Given the description of an element on the screen output the (x, y) to click on. 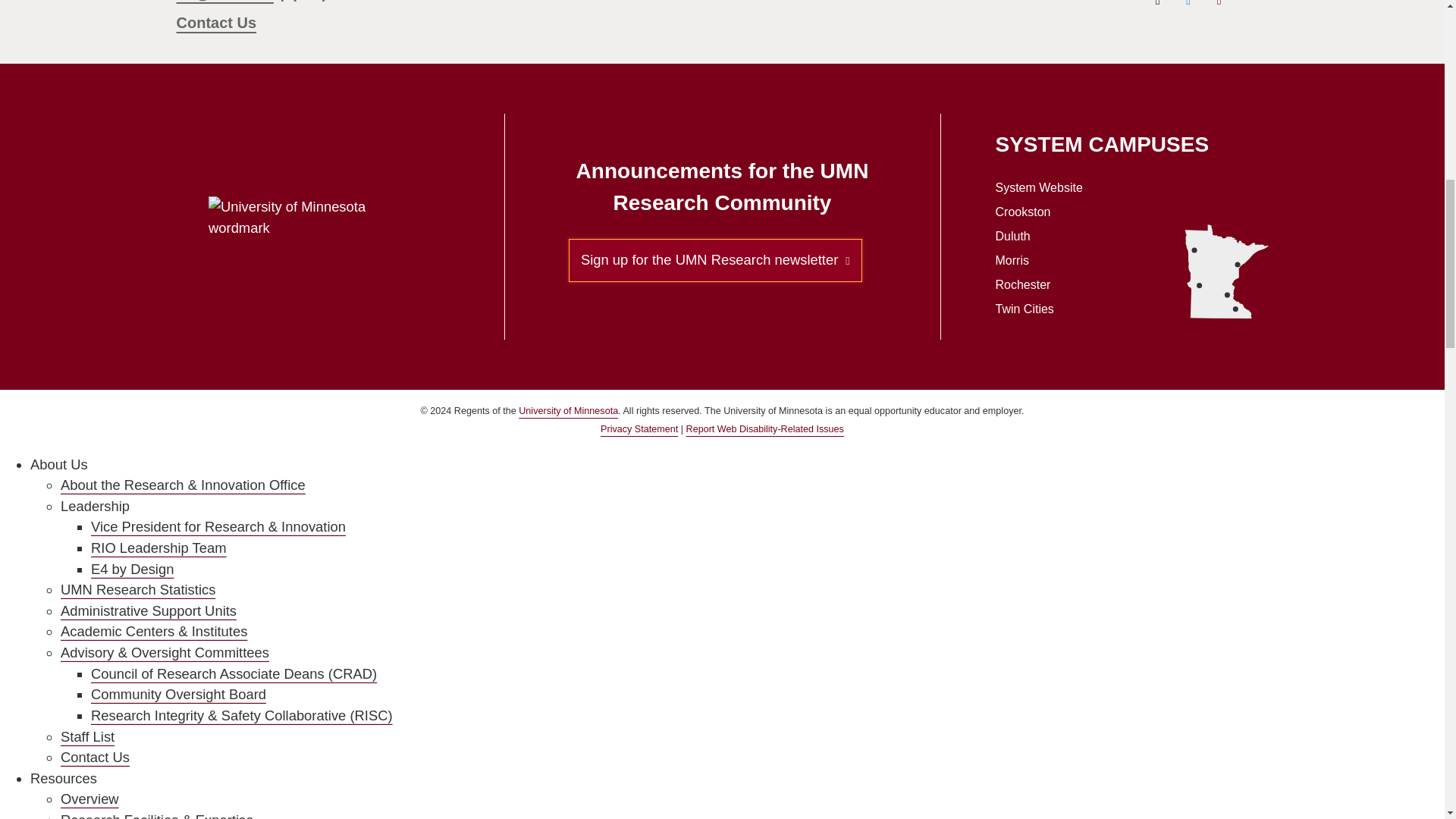
University of Minnesota Duluth (1237, 264)
University of Minnesota Rochester (1234, 309)
University of Minnesota Morris (1199, 285)
